Given the description of an element on the screen output the (x, y) to click on. 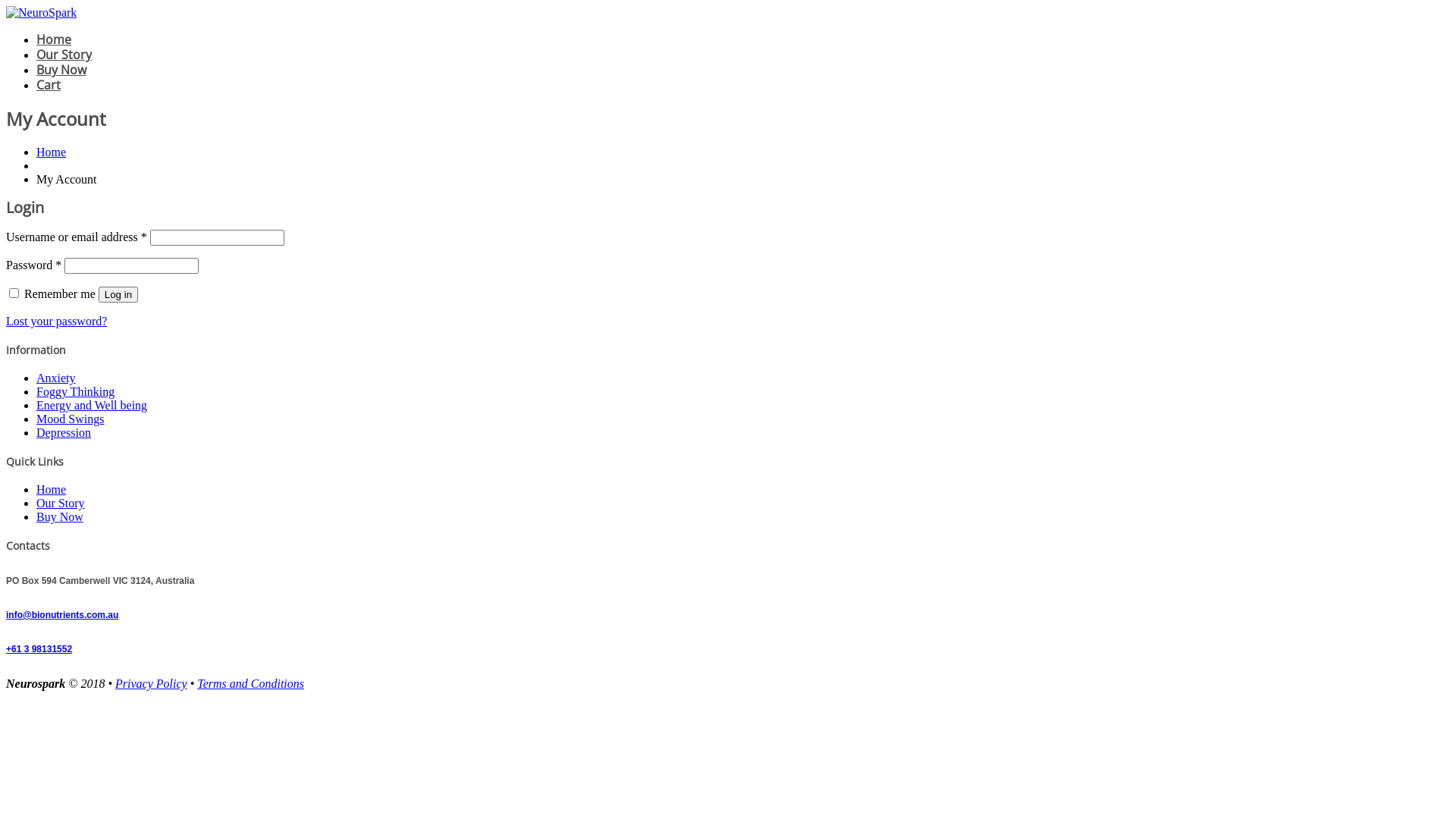
+61 3 98131552 Element type: text (39, 648)
Home Element type: text (50, 489)
Cart Element type: text (48, 84)
Energy and Well being Element type: text (91, 404)
Our Story Element type: text (60, 502)
Terms and Conditions Element type: text (250, 683)
Log in Element type: text (118, 294)
Buy Now Element type: text (61, 69)
Foggy Thinking Element type: text (75, 391)
Home Element type: text (50, 151)
Mood Swings Element type: text (69, 418)
Depression Element type: text (63, 432)
Lost your password? Element type: text (56, 320)
Anxiety Element type: text (55, 377)
Privacy Policy Element type: text (151, 683)
info@bionutrients.com.au Element type: text (62, 614)
Our Story Element type: text (63, 54)
Home Element type: text (53, 39)
Buy Now Element type: text (59, 516)
